Given the description of an element on the screen output the (x, y) to click on. 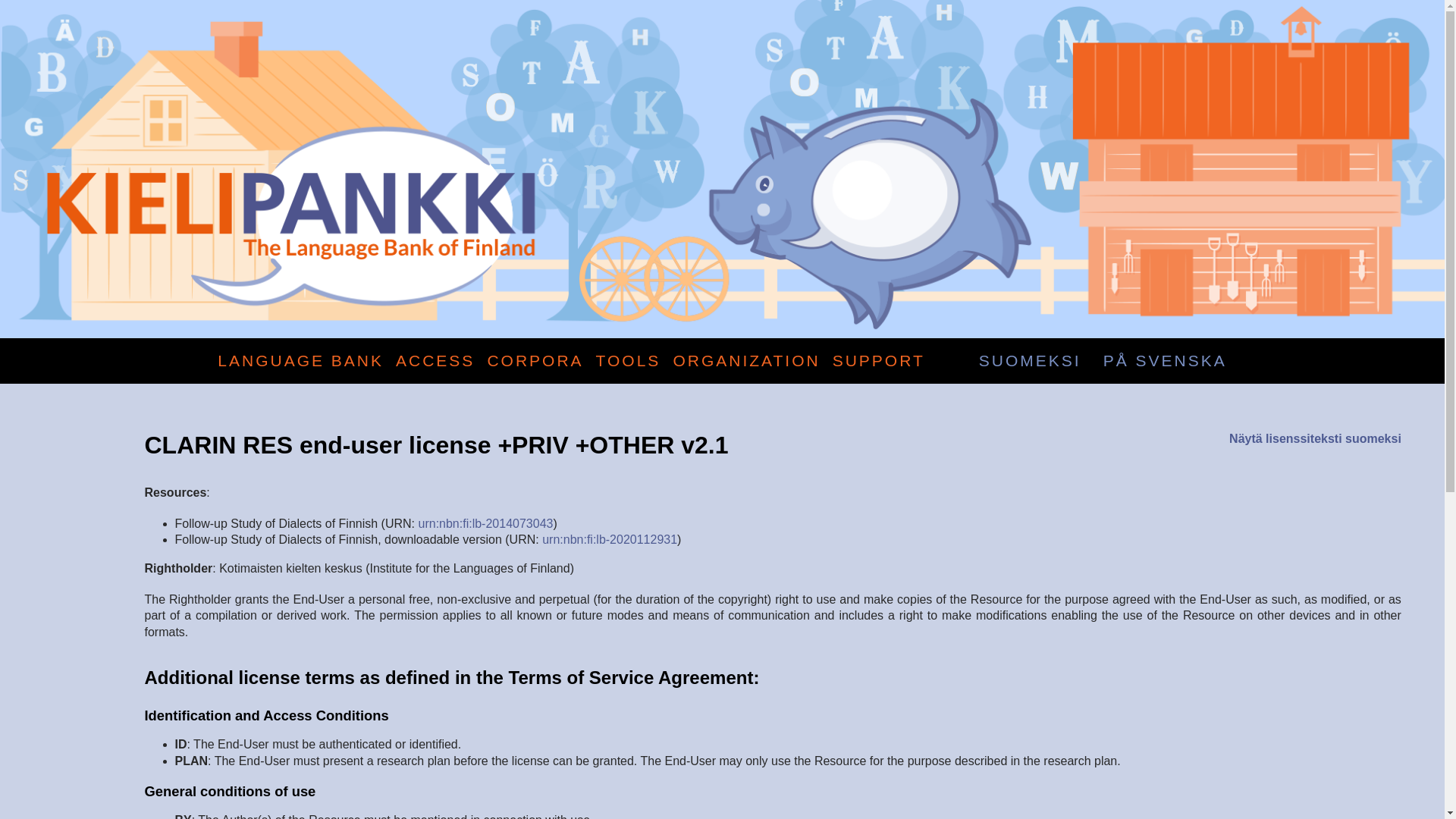
SUPPORT (878, 360)
ORGANIZATION (745, 360)
TOOLS (628, 360)
CORPORA (534, 360)
LANGUAGE BANK (300, 360)
SUOMEKSI (1029, 360)
urn:nbn:fi:lb-2020112931 (609, 539)
ACCESS (435, 360)
urn:nbn:fi:lb-2014073043 (486, 522)
